Given the description of an element on the screen output the (x, y) to click on. 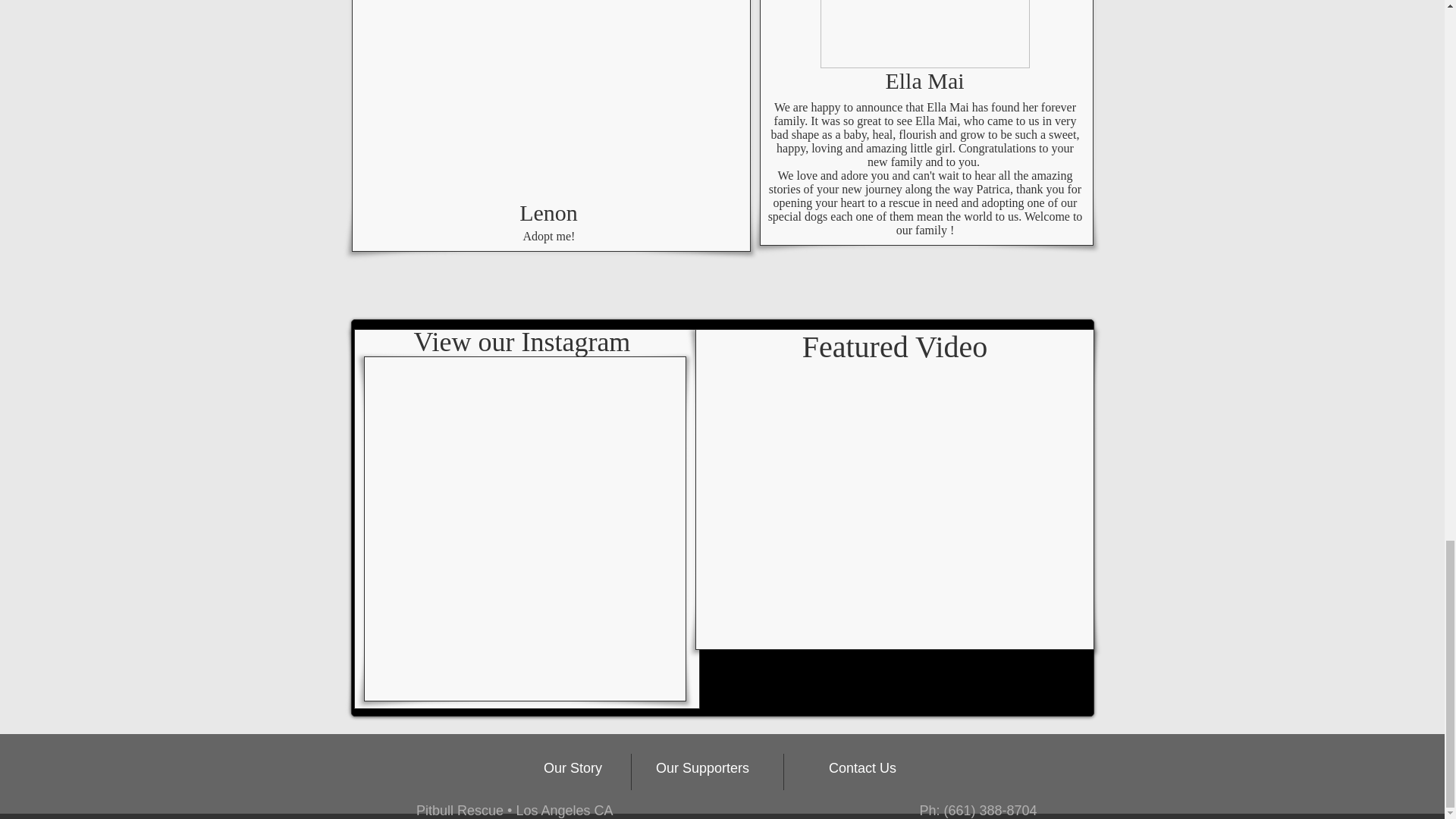
Screen Shot 2020-03-24 at 8.52.57 PM.png (548, 95)
Our Supporters (702, 767)
Our Story (572, 767)
External YouTube (895, 505)
Contact Us (862, 767)
